Given the description of an element on the screen output the (x, y) to click on. 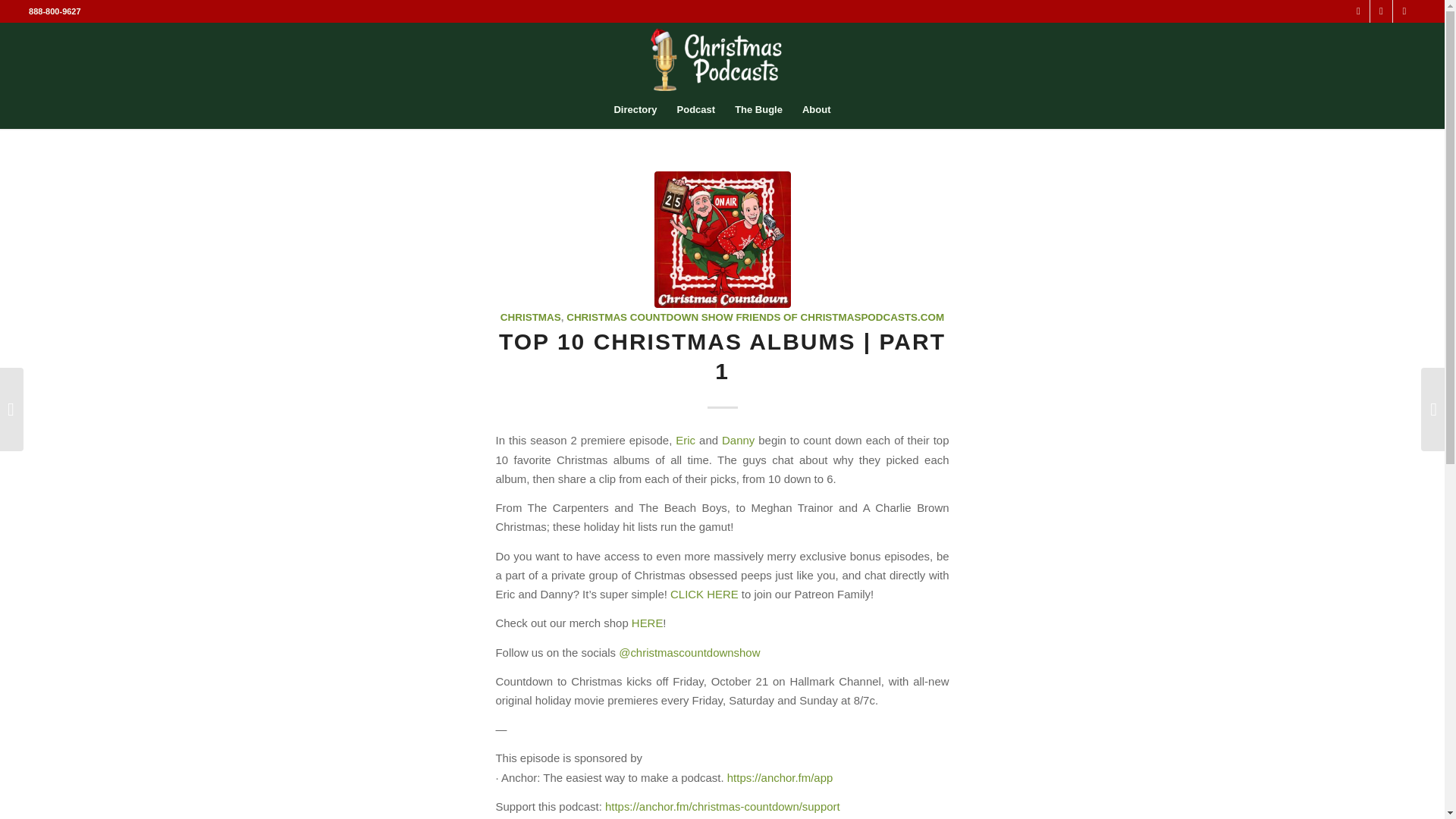
CLICK HERE (703, 594)
Danny (738, 440)
Directory (635, 109)
HERE (647, 622)
Instagram (1380, 11)
Twitter (1359, 11)
About (816, 109)
Podcast (695, 109)
Eric (685, 440)
CHRISTMAS (530, 317)
Facebook (1404, 11)
FRIENDS OF CHRISTMASPODCASTS.COM (839, 317)
CHRISTMAS COUNTDOWN SHOW (649, 317)
The Bugle (758, 109)
